Given the description of an element on the screen output the (x, y) to click on. 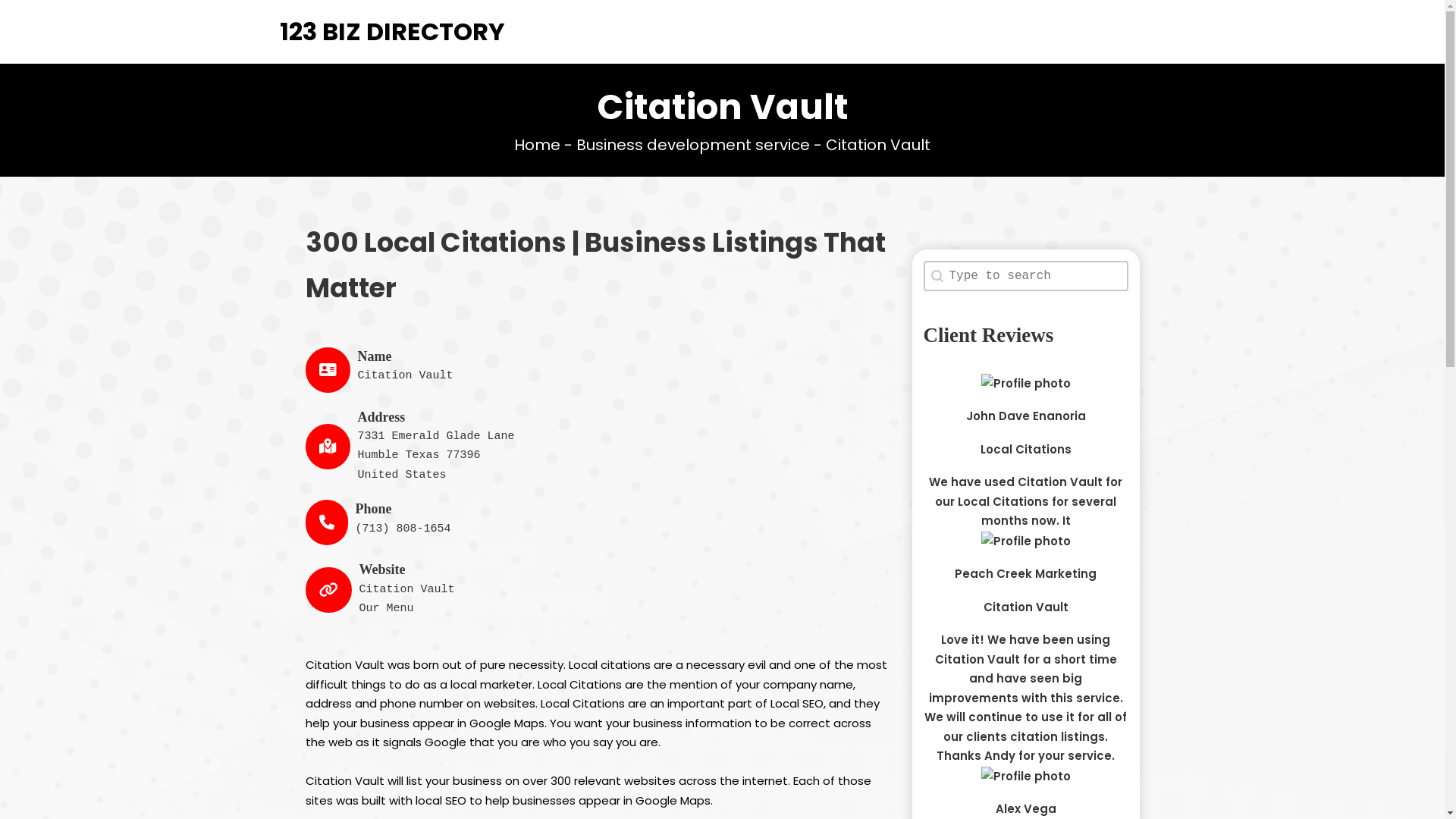
Business development service Element type: text (692, 144)
Citation Vault Element type: text (1024, 607)
Our Menu Element type: text (386, 608)
Home Element type: text (537, 144)
Local Citations Element type: text (1024, 449)
123 BIZ DIRECTORY Element type: text (391, 31)
Citation Vault Element type: text (407, 589)
